Given the description of an element on the screen output the (x, y) to click on. 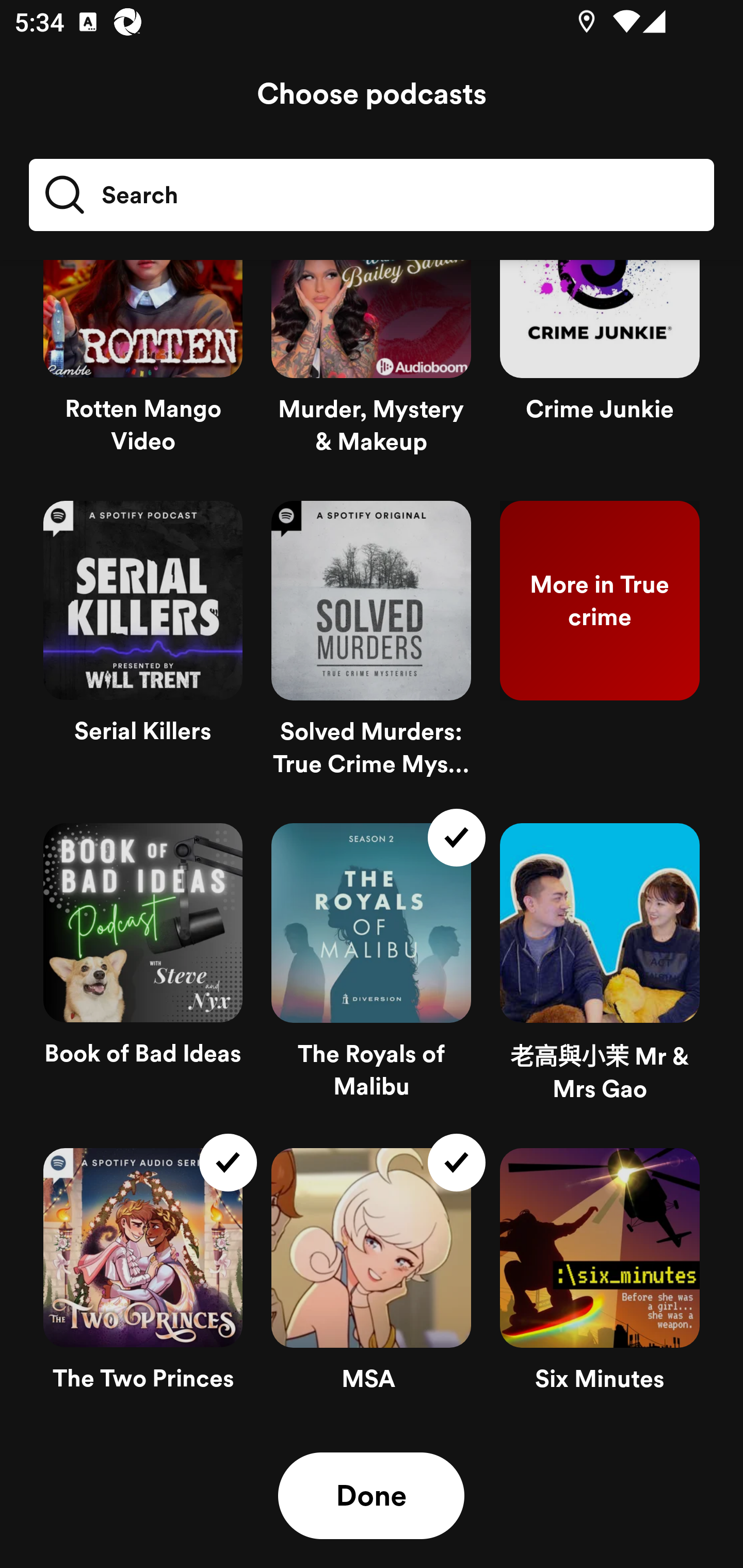
Search (371, 195)
Search (110, 195)
Rotten Mango Video unselected Rotten Mango Video (142, 373)
Crime Junkie unselected Crime Junkie (599, 373)
Serial Killers unselected Serial Killers (142, 647)
More in True crime (599, 647)
Book of Bad Ideas unselected Book of Bad Ideas (142, 971)
The Royals of Malibu selected The Royals of Malibu (371, 971)
老高與小茉 Mr & Mrs Gao unselected 老高與小茉 Mr & Mrs Gao (599, 971)
The Two Princes selected The Two Princes (142, 1278)
MSA  selected MSA  (371, 1278)
Six Minutes unselected Six Minutes (599, 1278)
Done (370, 1495)
